Given the description of an element on the screen output the (x, y) to click on. 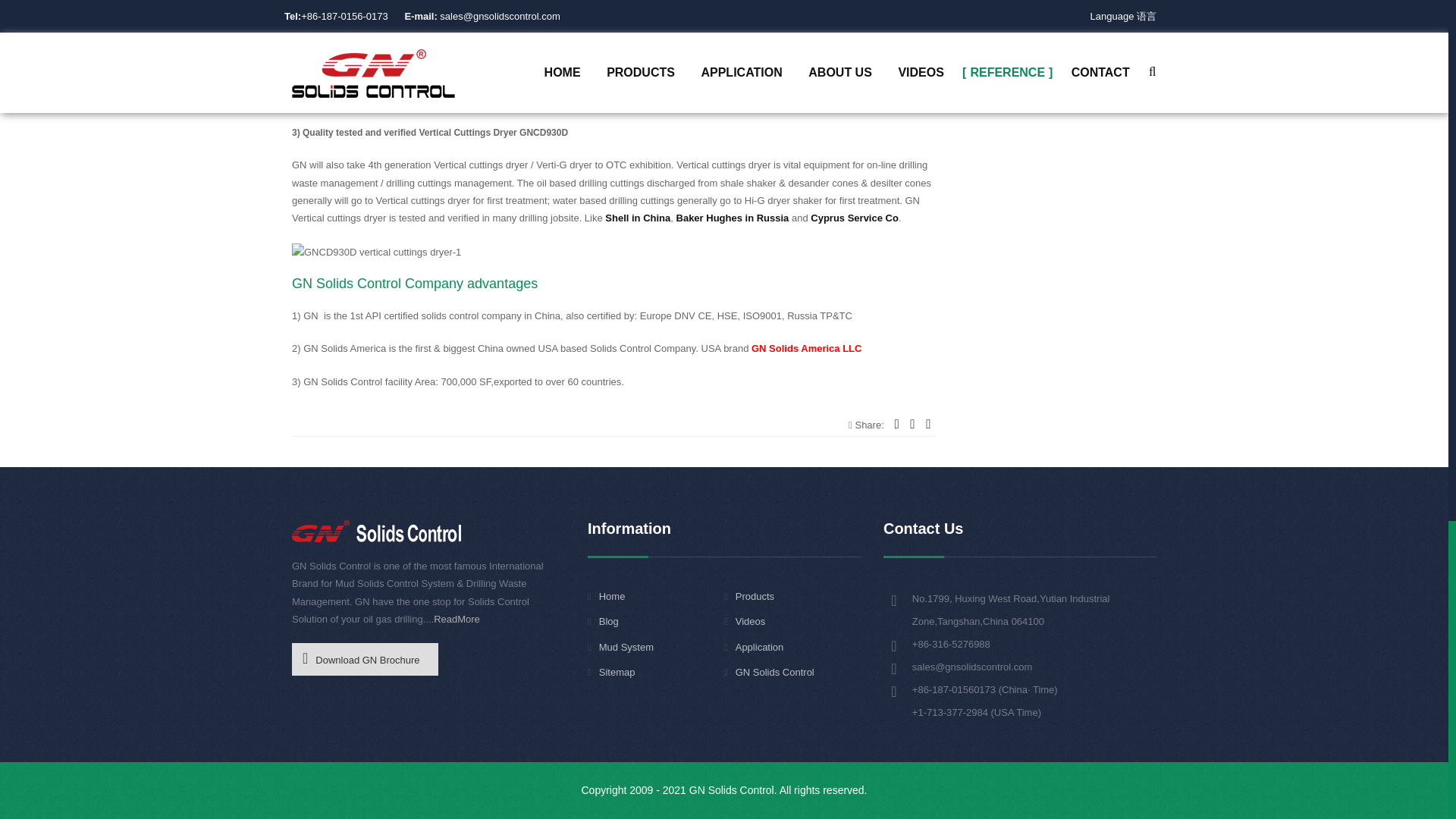
baker hughes in Russia (733, 217)
GNCD930D vertical cuttings dryer-1 (376, 252)
GN centrifuge (328, 98)
Cyprus Service Co (854, 217)
GN Solids america LLC (806, 348)
Shell in China (637, 217)
